Given the description of an element on the screen output the (x, y) to click on. 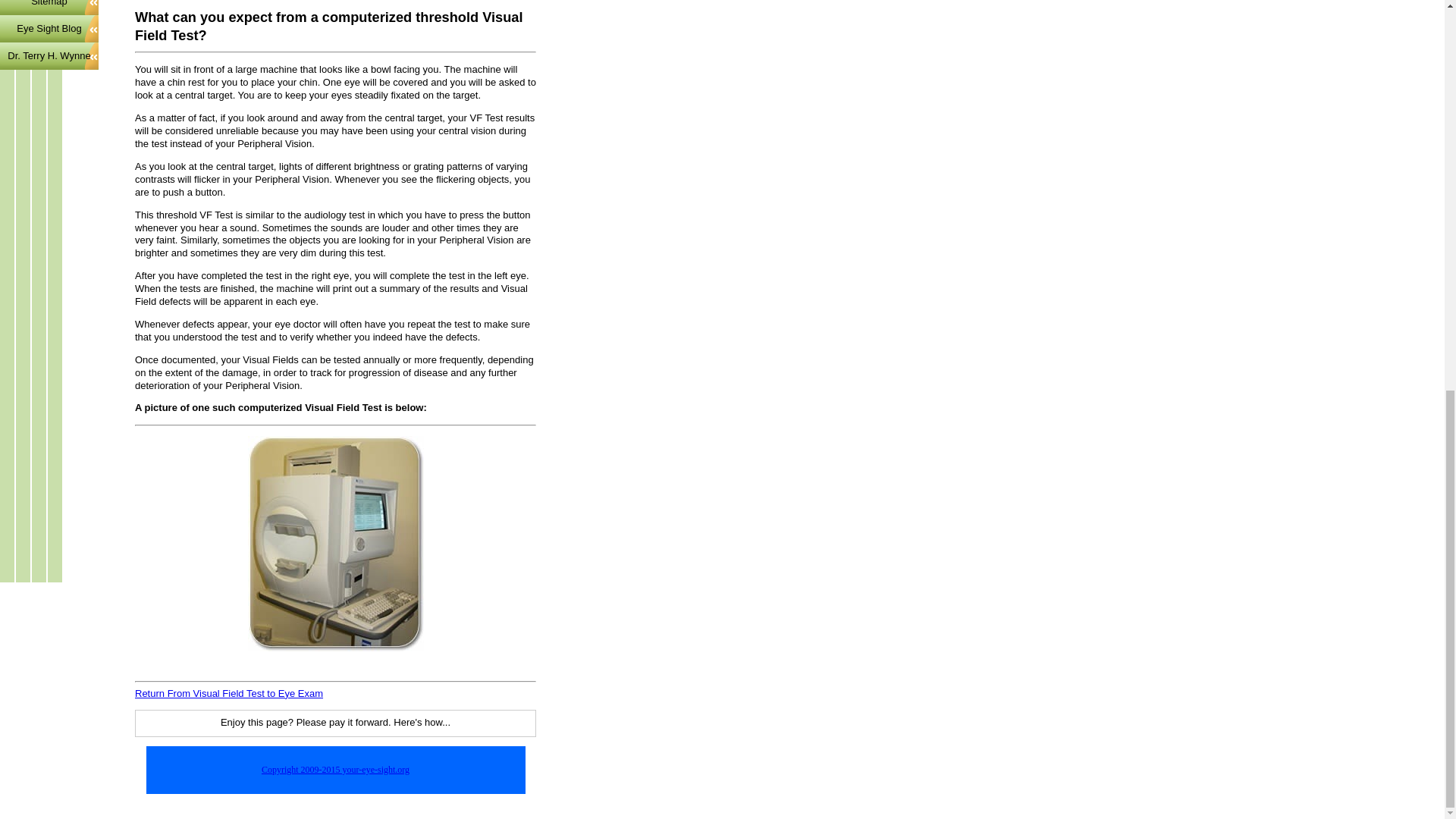
Return From Visual Field Test to Eye Exam (229, 693)
Eye Sight Blog (49, 28)
Sitemap (49, 7)
Dr. Terry H. Wynne (49, 55)
Copyright 2009-2015 your-eye-sight.org (335, 769)
